Given the description of an element on the screen output the (x, y) to click on. 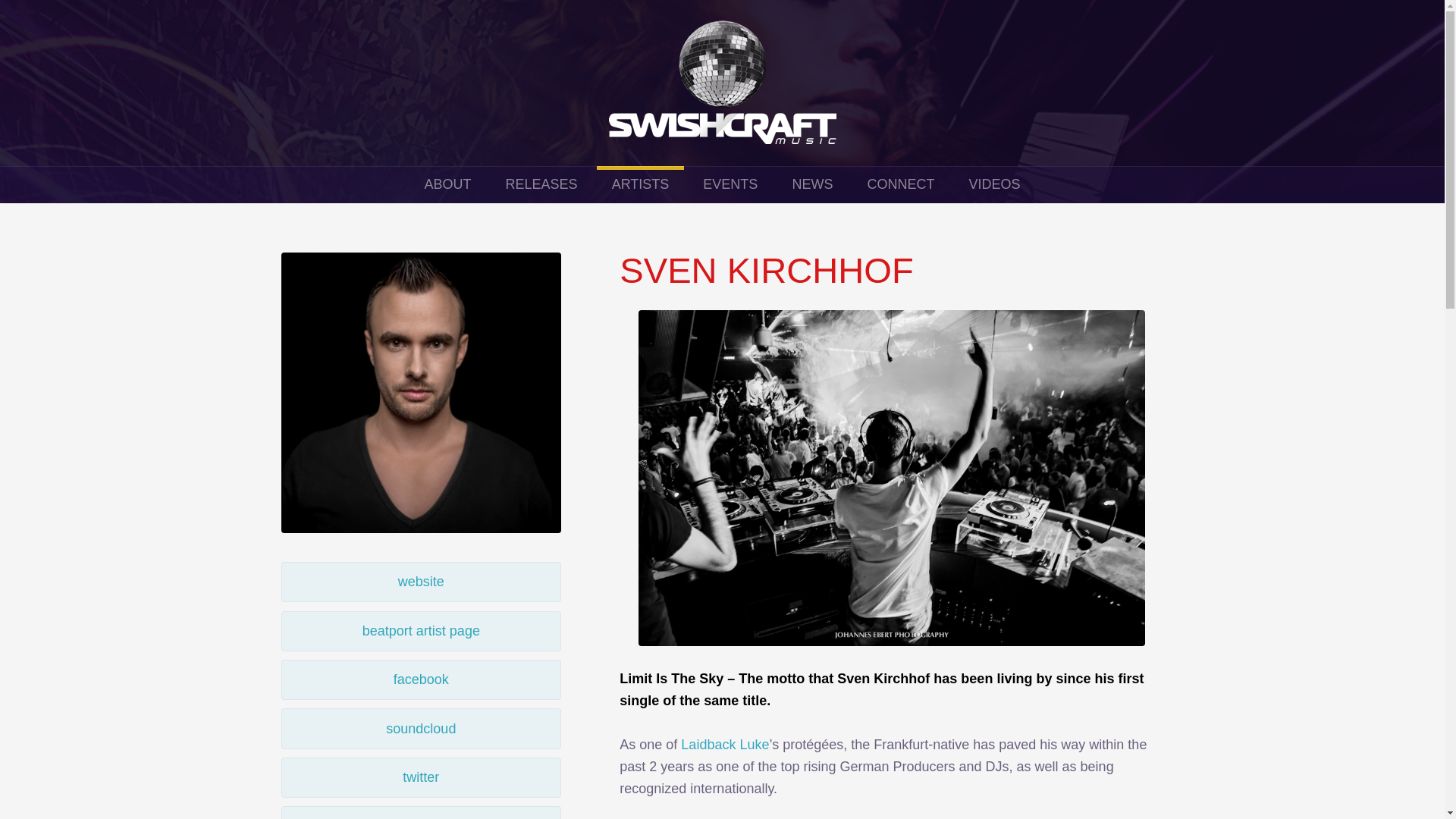
twitter (420, 777)
SWISHCRAFT MUSIC (721, 82)
ARTISTS (640, 184)
beatport artist page (420, 630)
Laidback Luke (724, 744)
website (420, 581)
myspace (420, 812)
RELEASES (541, 184)
EVENTS (730, 184)
CONNECT (900, 184)
NEWS (811, 184)
soundcloud (420, 728)
facebook (420, 680)
VIDEOS (994, 184)
ABOUT (447, 184)
